Given the description of an element on the screen output the (x, y) to click on. 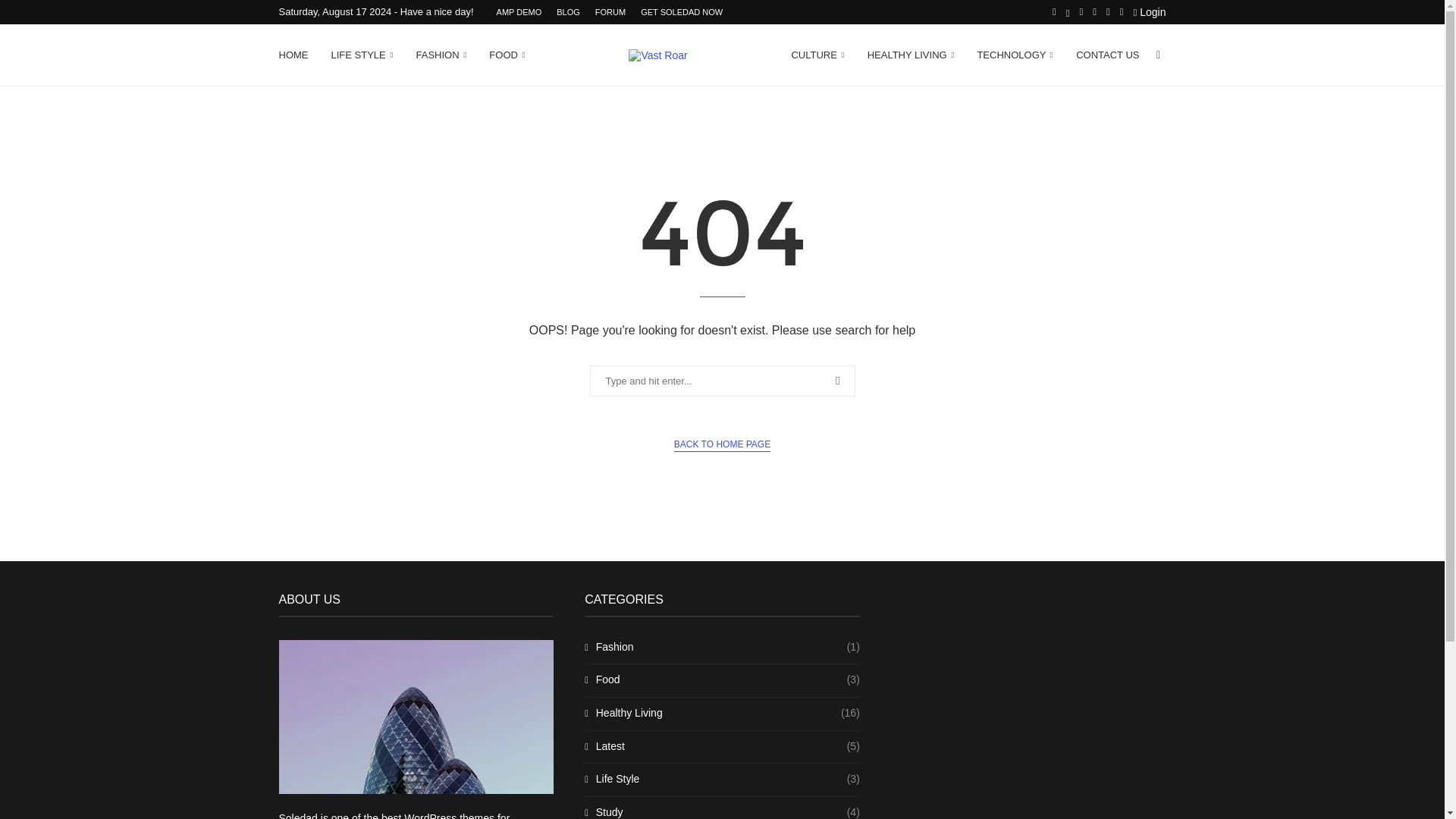
LIFE STYLE (361, 55)
BACK TO HOME PAGE (722, 444)
BLOG (567, 12)
Search (35, 15)
CONTACT US (1106, 55)
FORUM (610, 12)
GET SOLEDAD NOW (681, 12)
TECHNOLOGY (1014, 55)
HEALTHY LIVING (911, 55)
Login (1149, 12)
